Given the description of an element on the screen output the (x, y) to click on. 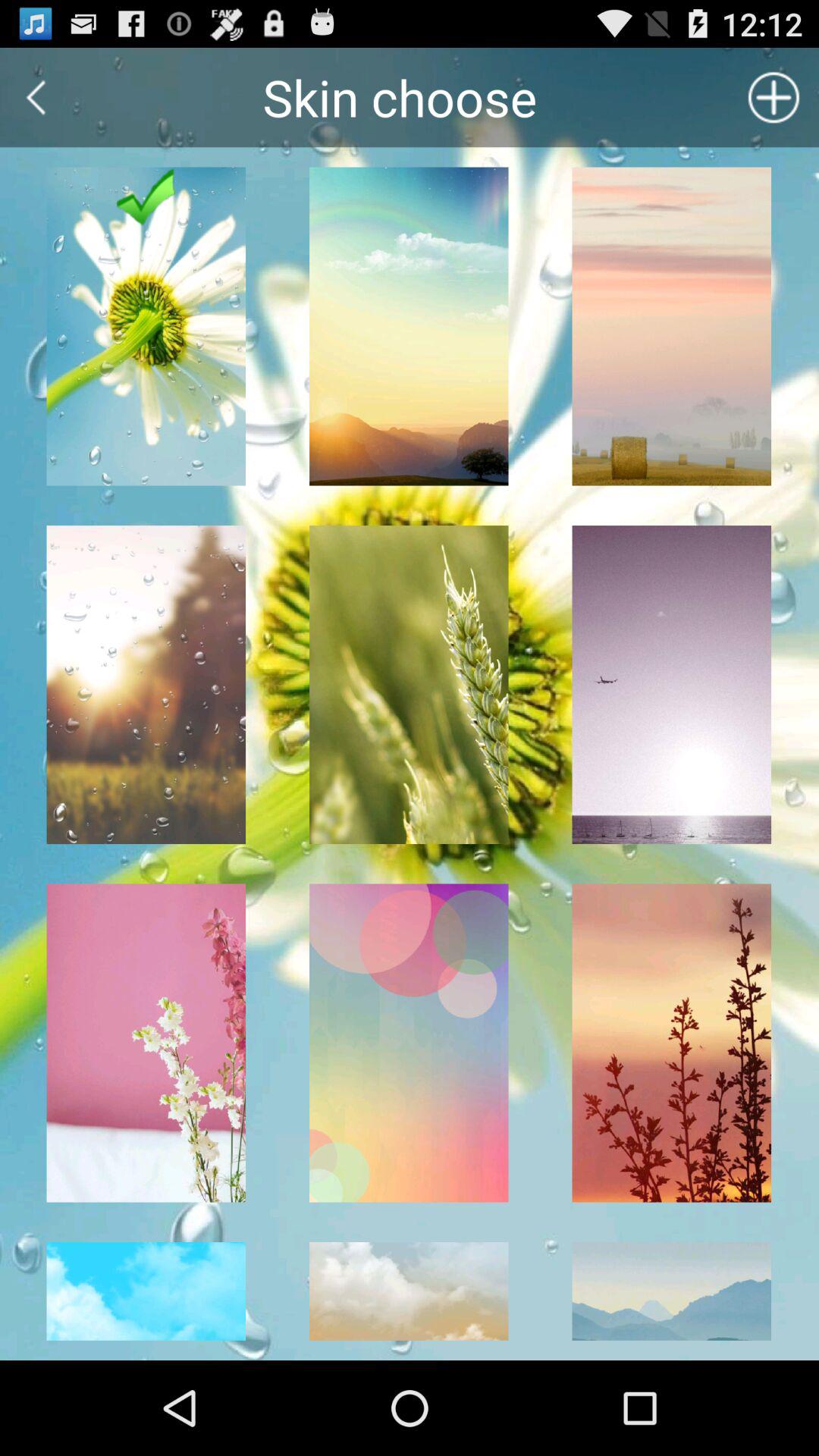
click the tick mark on the first image (146, 197)
select the ninth image (671, 1042)
select the add icon (773, 97)
click the first image (145, 326)
select the third row first image (145, 1042)
select the first column second image (145, 684)
select the bottom right image (671, 1300)
select the second row second image (408, 684)
